Given the description of an element on the screen output the (x, y) to click on. 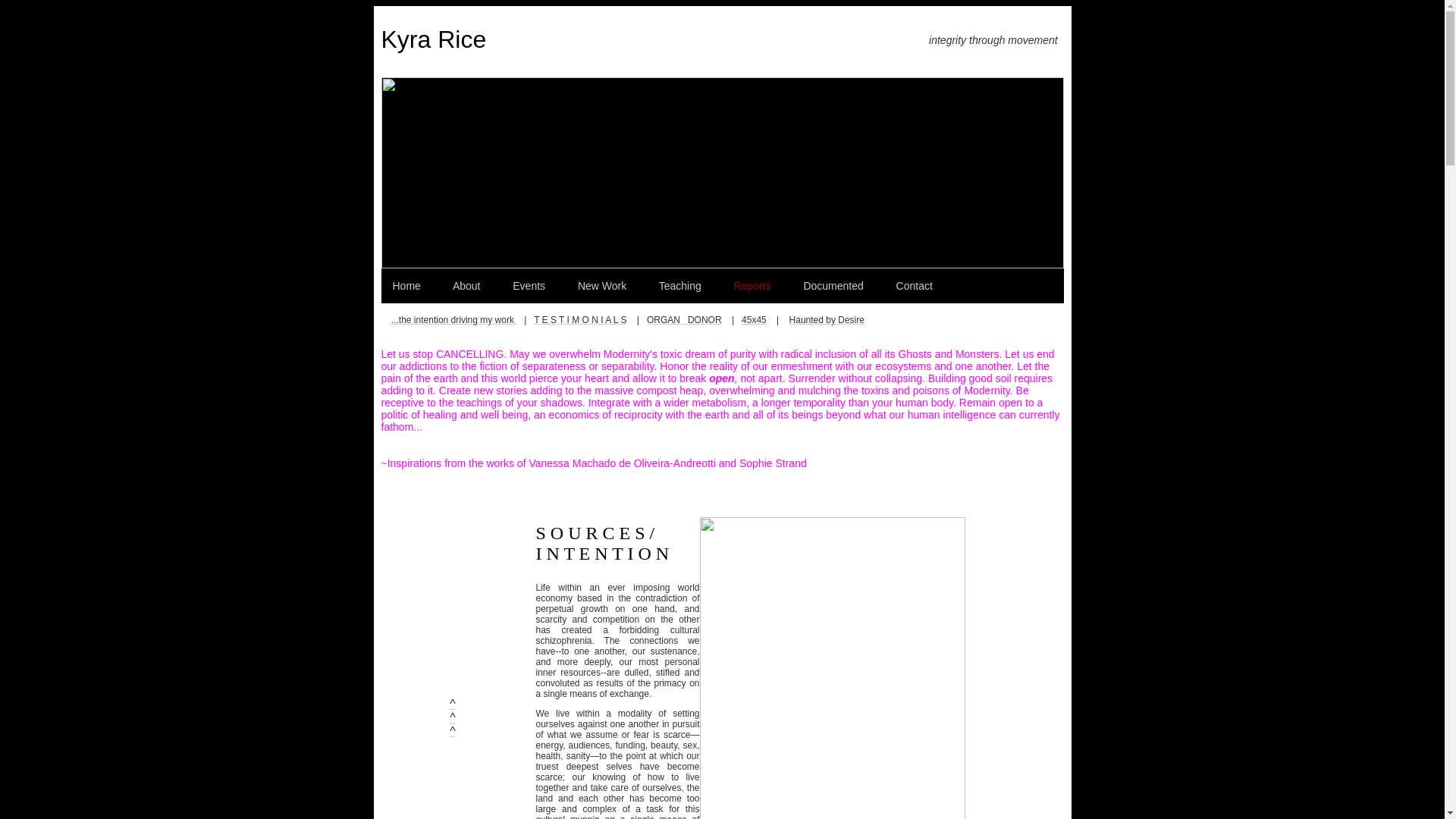
T E S T I M O N I A L S (580, 319)
Haunted by Desire (826, 319)
Documented (833, 285)
Events (528, 285)
...the intention driving my work (453, 319)
Contact (914, 285)
45x45 (754, 319)
Reports (752, 285)
About (466, 285)
Home (406, 285)
New Work (602, 285)
ORGAN   DONOR (684, 319)
Teaching (680, 285)
